Given the description of an element on the screen output the (x, y) to click on. 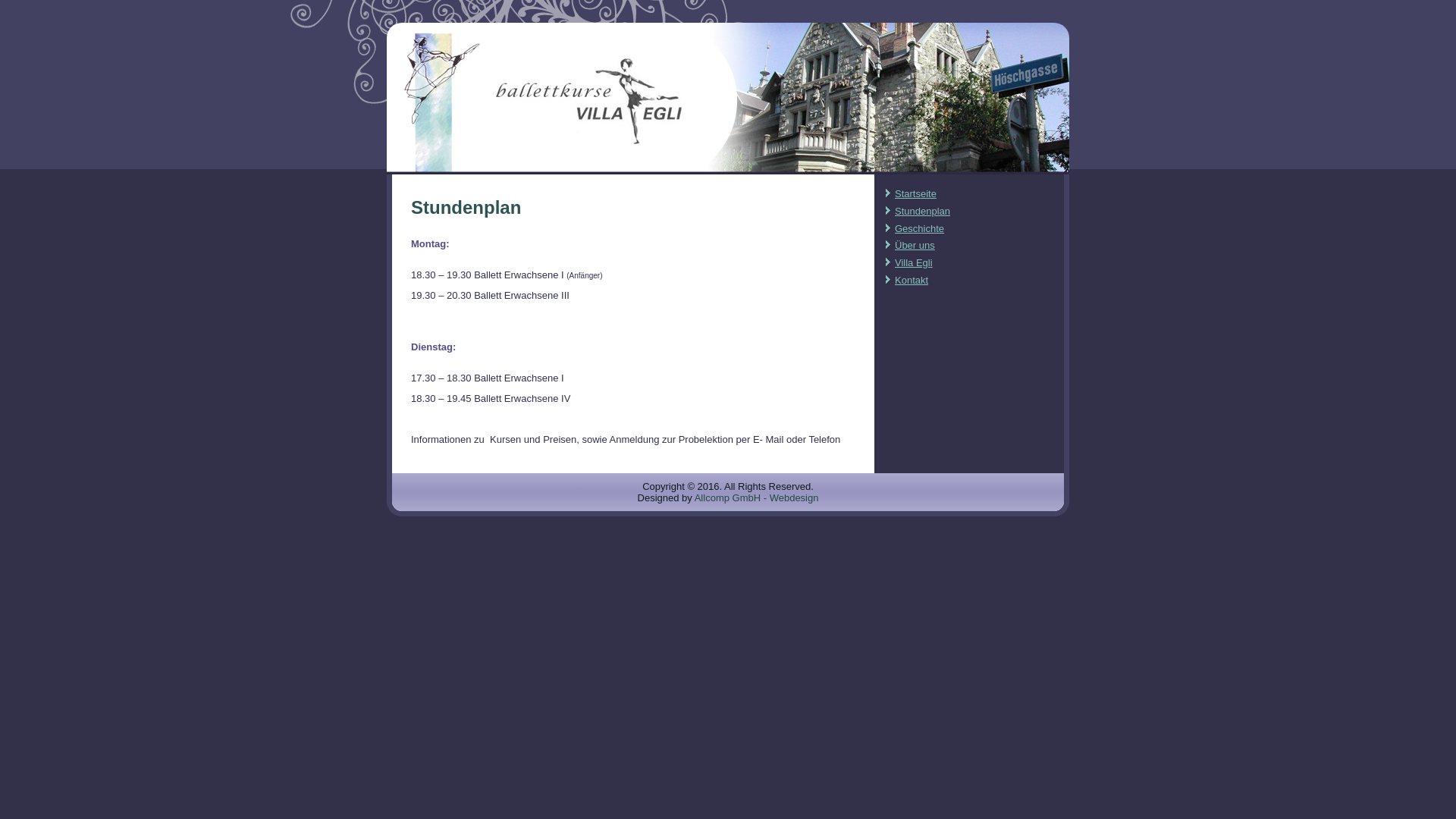
Stundenplan Element type: text (922, 210)
Villa Egli Element type: text (913, 262)
Kontakt Element type: text (911, 279)
Geschichte Element type: text (919, 228)
Allcomp GmbH - Webdesign Element type: text (756, 497)
Startseite Element type: text (915, 193)
